Given the description of an element on the screen output the (x, y) to click on. 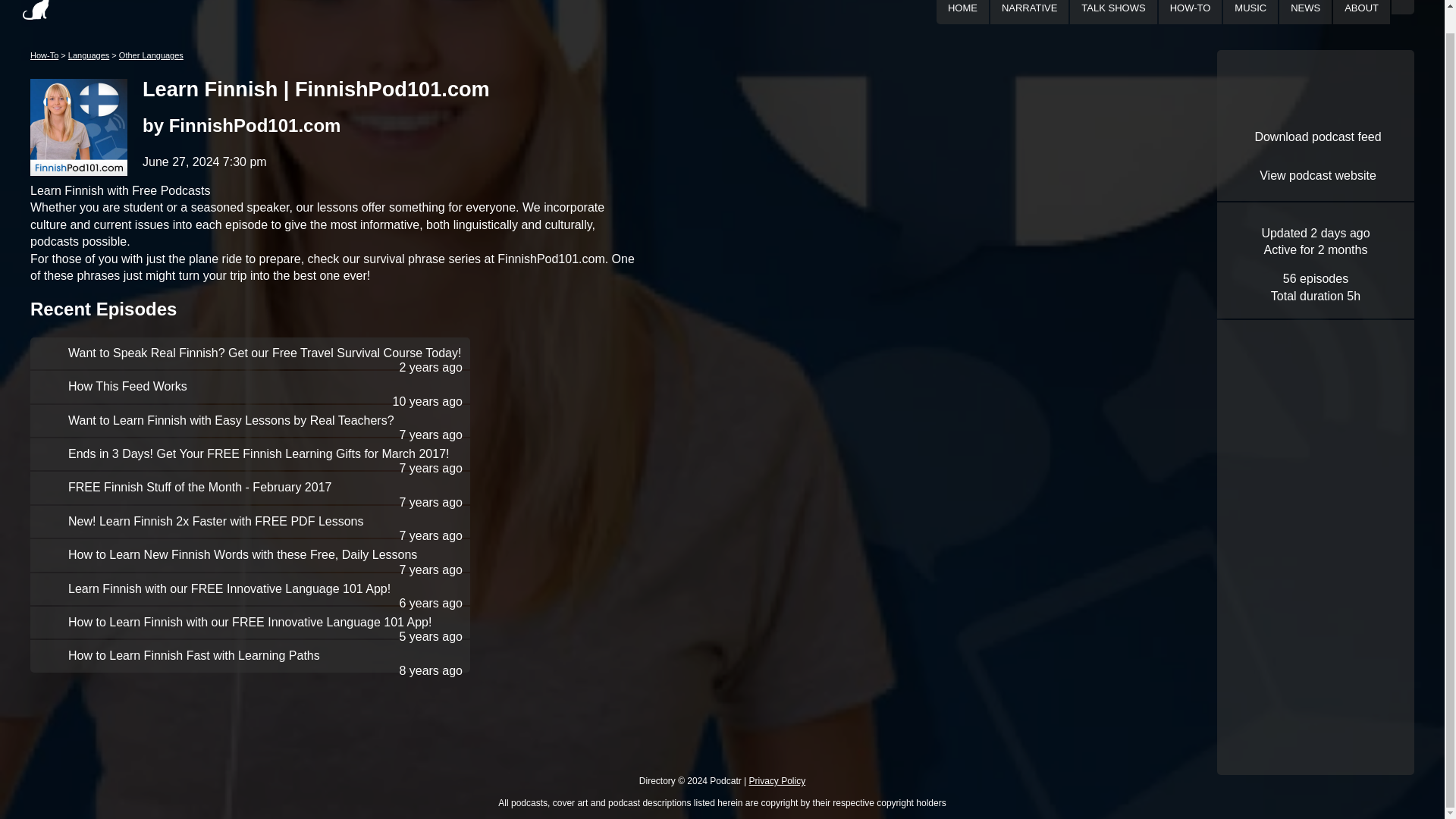
Podcast website (1315, 175)
Privacy Policy (777, 780)
Podcast feed (1315, 137)
NEWS (1305, 7)
View podcast website (1315, 175)
Download podcast feed (1315, 137)
Languages (88, 54)
Other Languages (151, 54)
TALK SHOWS (1112, 7)
HOME (961, 7)
HOW-TO (1190, 7)
NARRATIVE (1029, 7)
ABOUT (1360, 7)
How-To (44, 54)
MUSIC (1250, 7)
